Given the description of an element on the screen output the (x, y) to click on. 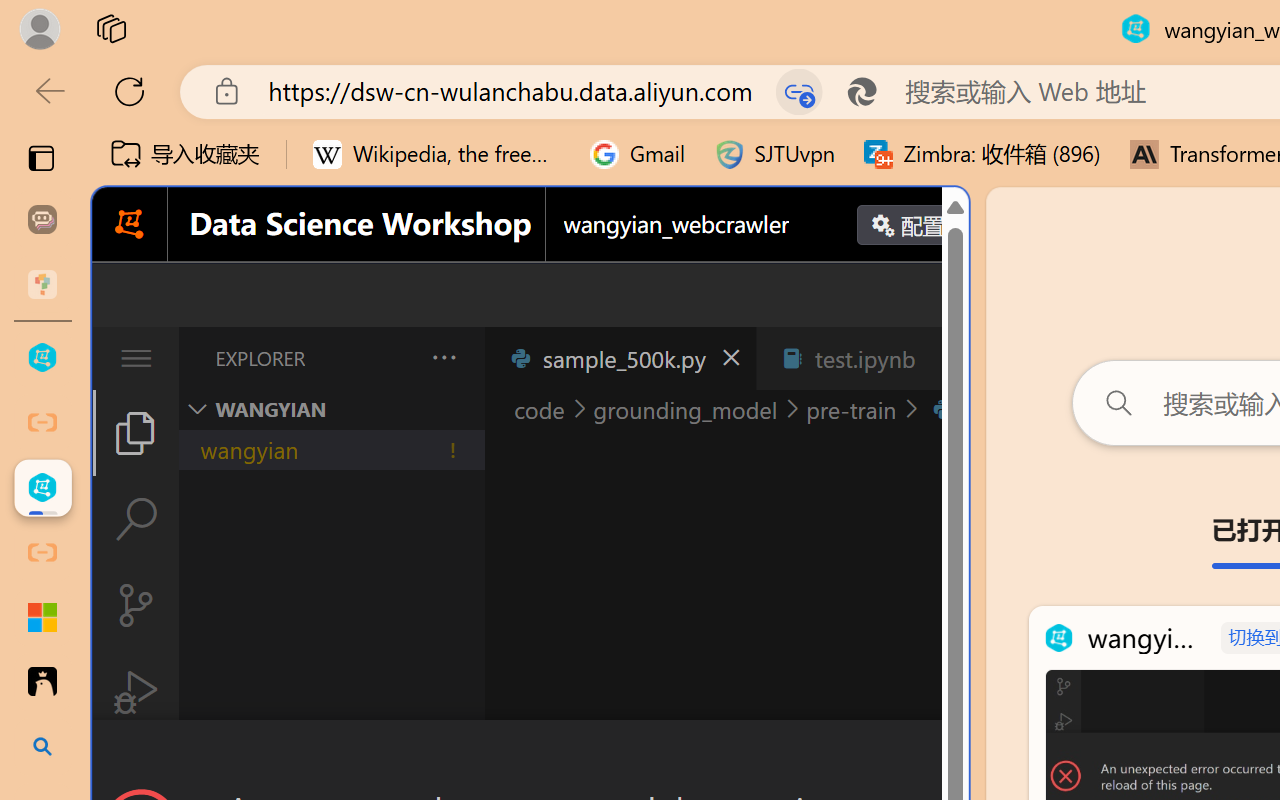
Explorer (Ctrl+Shift+E) (135, 432)
Close Dialog (959, 756)
Close (Ctrl+F4) (946, 358)
Explorer actions (391, 358)
wangyian_dsw - DSW (42, 357)
Class: actions-container (529, 756)
